Given the description of an element on the screen output the (x, y) to click on. 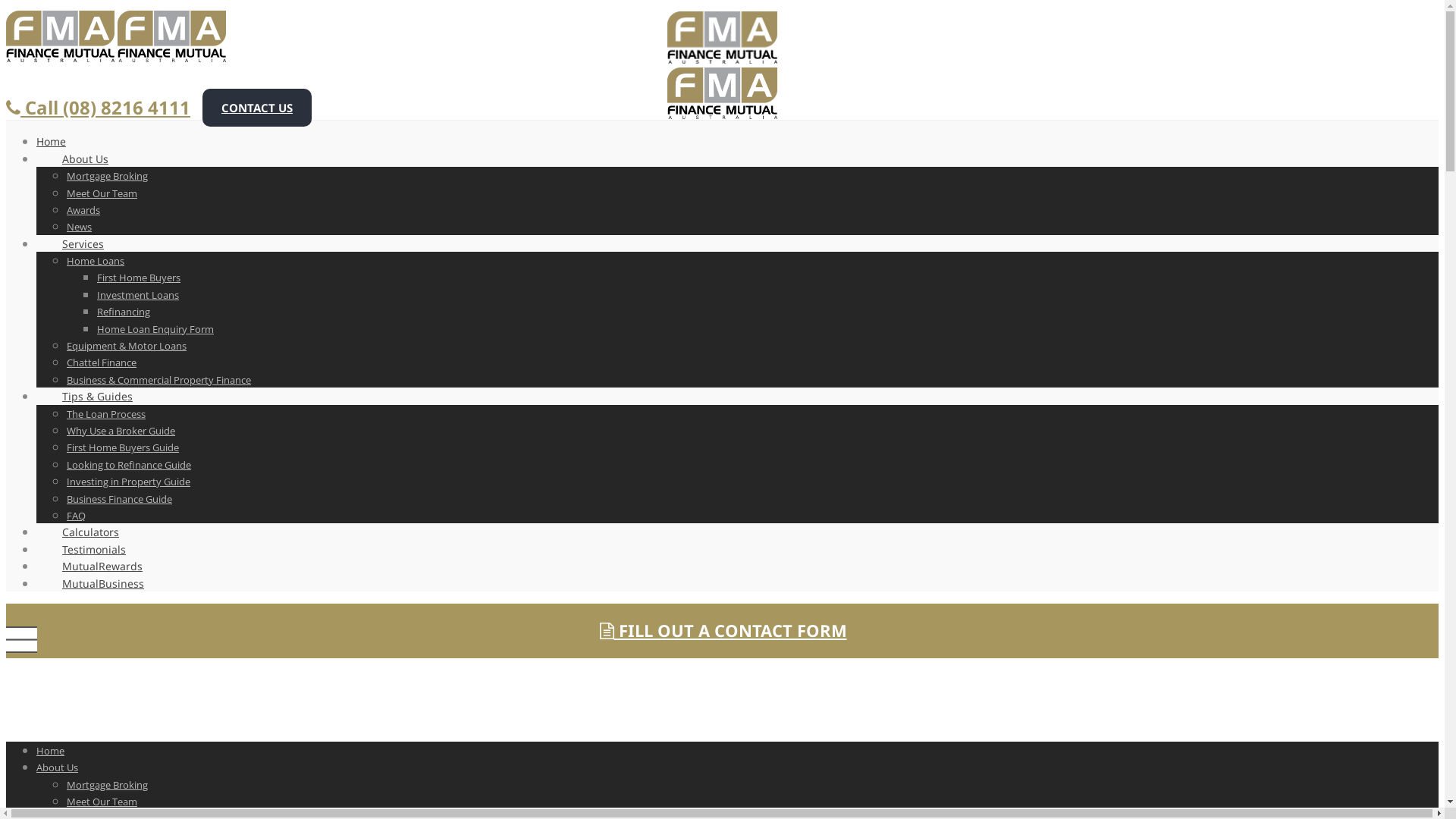
Investing in Property Guide Element type: text (128, 481)
Mortgage Broking Element type: text (106, 784)
Looking to Refinance Guide Element type: text (128, 464)
About Us Element type: text (57, 767)
Mortgage Broking Element type: text (106, 175)
Equipment & Motor Loans Element type: text (126, 345)
Awards Element type: text (83, 209)
MutualRewards Element type: text (102, 565)
About Us Element type: text (85, 158)
CONTACT US Element type: text (256, 107)
Home Element type: text (50, 750)
News Element type: text (78, 226)
FAQ Element type: text (75, 515)
FILL OUT A CONTACT FORM Element type: text (722, 630)
Why Use a Broker Guide Element type: text (120, 430)
Services Element type: text (82, 243)
Home Loans Element type: text (95, 260)
First Home Buyers Guide Element type: text (122, 447)
Investment Loans Element type: text (137, 294)
The Loan Process Element type: text (105, 413)
First Home Buyers Element type: text (138, 277)
Tips & Guides Element type: text (97, 395)
Business Finance Guide Element type: text (119, 498)
Calculators Element type: text (90, 531)
Home Loan Enquiry Form Element type: text (155, 328)
Business & Commercial Property Finance Element type: text (158, 379)
Meet Our Team Element type: text (101, 193)
Home Element type: text (63, 141)
MutualBusiness Element type: text (90, 583)
Chattel Finance Element type: text (101, 362)
Meet Our Team Element type: text (101, 801)
Refinancing Element type: text (123, 311)
Call (08) 8216 4111 Element type: text (98, 106)
Testimonials Element type: text (93, 549)
